Given the description of an element on the screen output the (x, y) to click on. 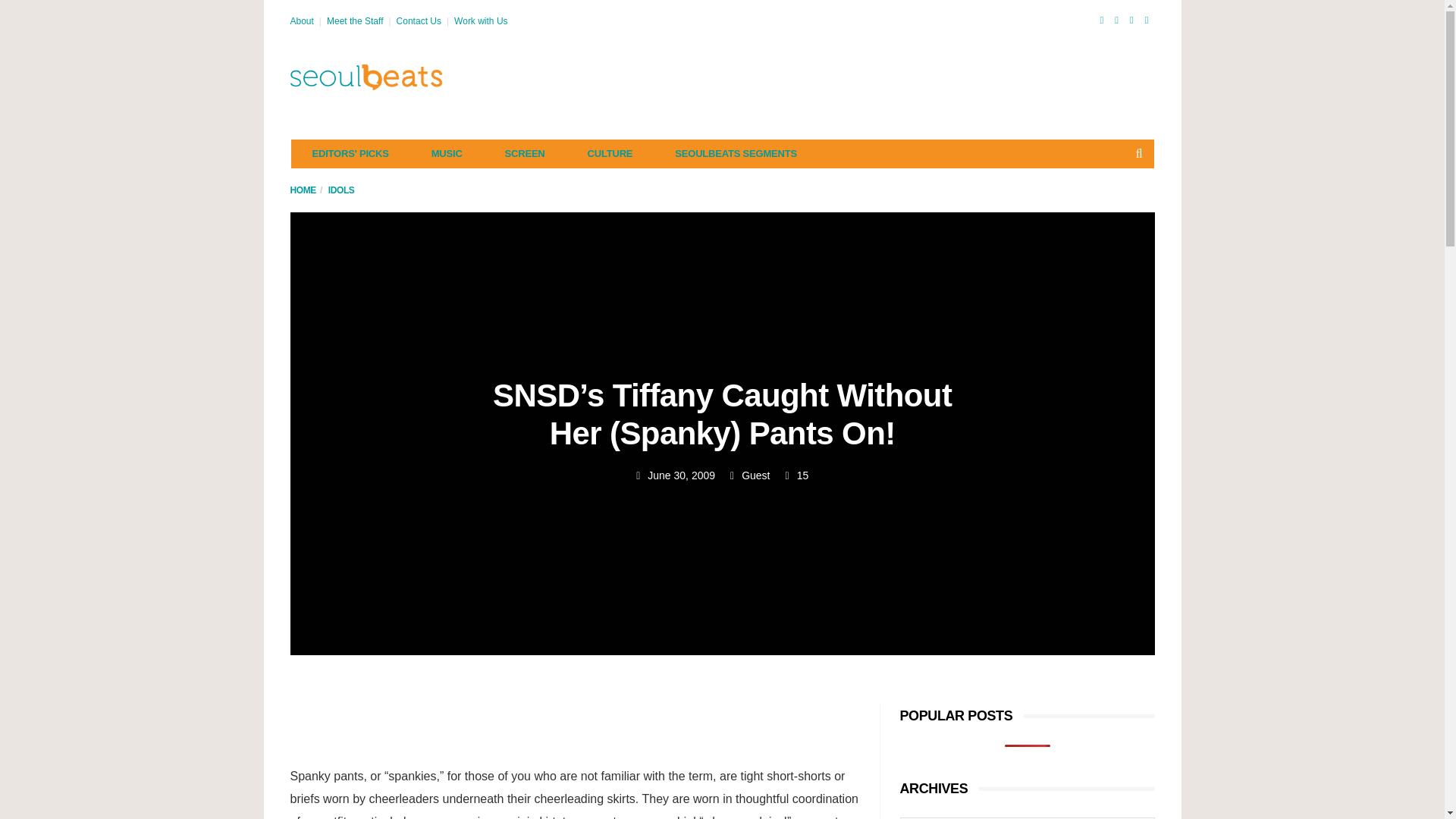
EDITORS' PICKS (350, 153)
Contact Us (418, 20)
About (301, 20)
Work with Us (480, 20)
MUSIC (446, 153)
Meet the Staff (355, 20)
